Given the description of an element on the screen output the (x, y) to click on. 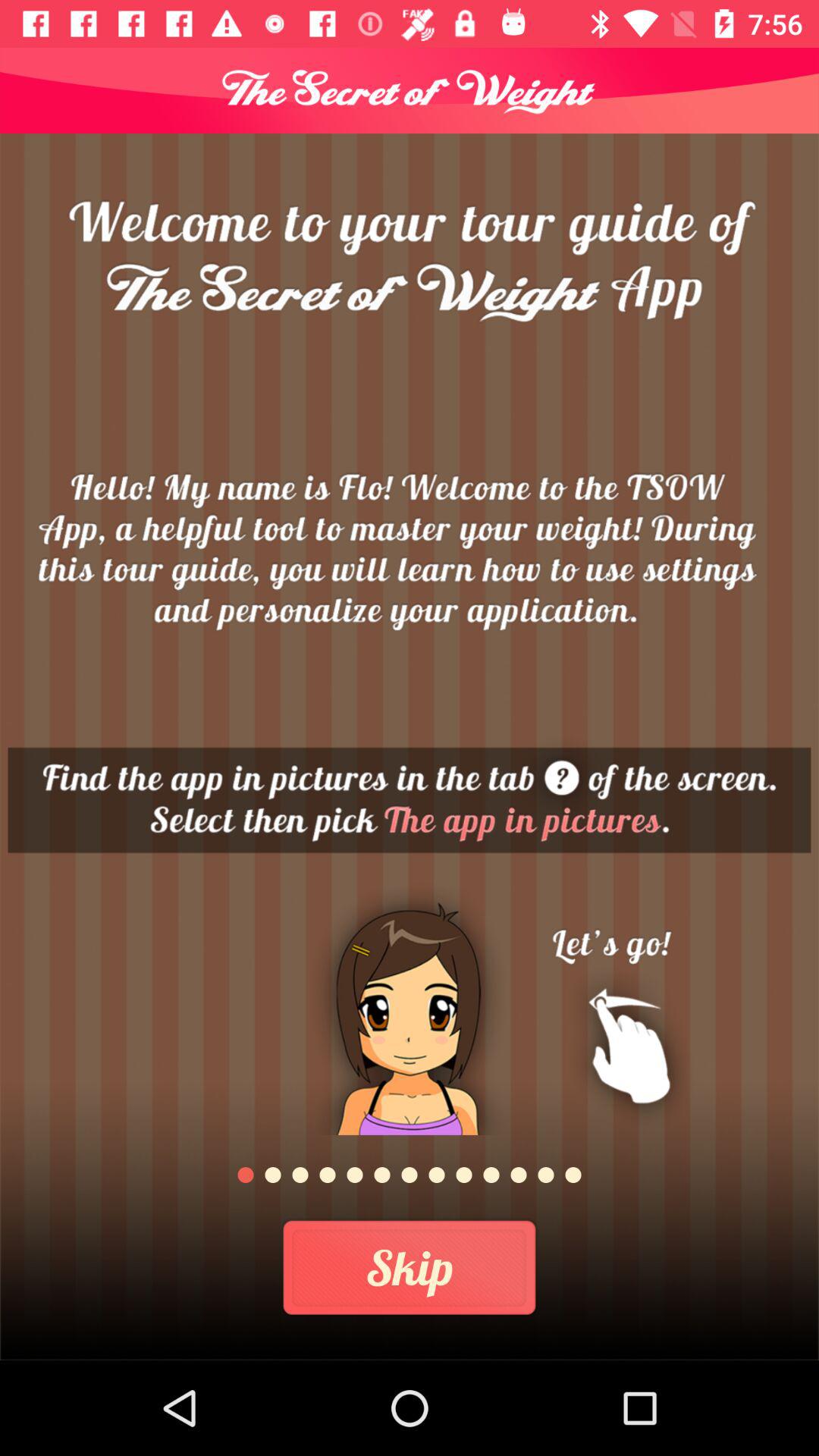
scroll until the skip (409, 1267)
